Given the description of an element on the screen output the (x, y) to click on. 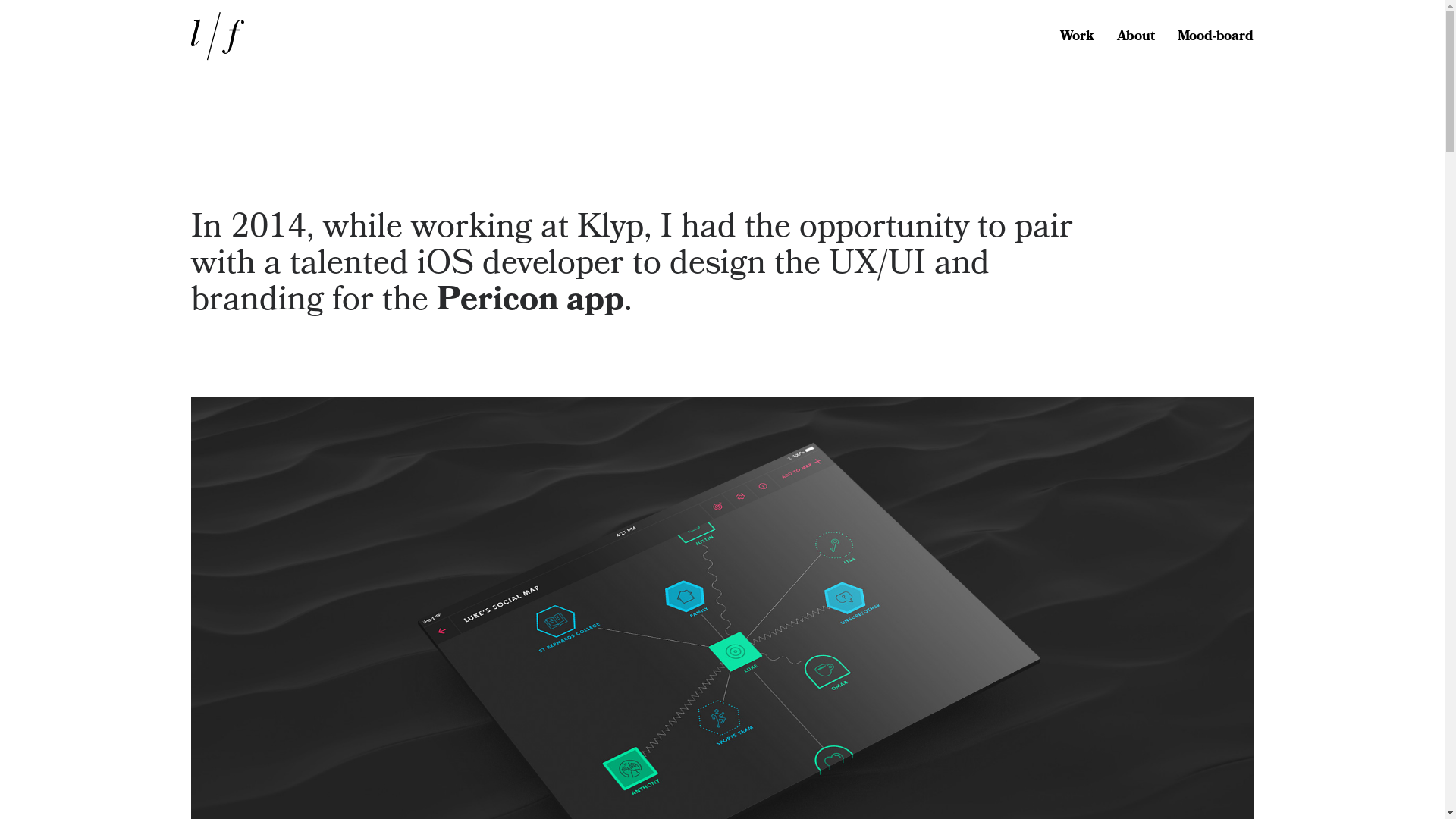
Mood-board Element type: text (1215, 37)
About Element type: text (1147, 37)
Work Element type: text (1088, 37)
